Given the description of an element on the screen output the (x, y) to click on. 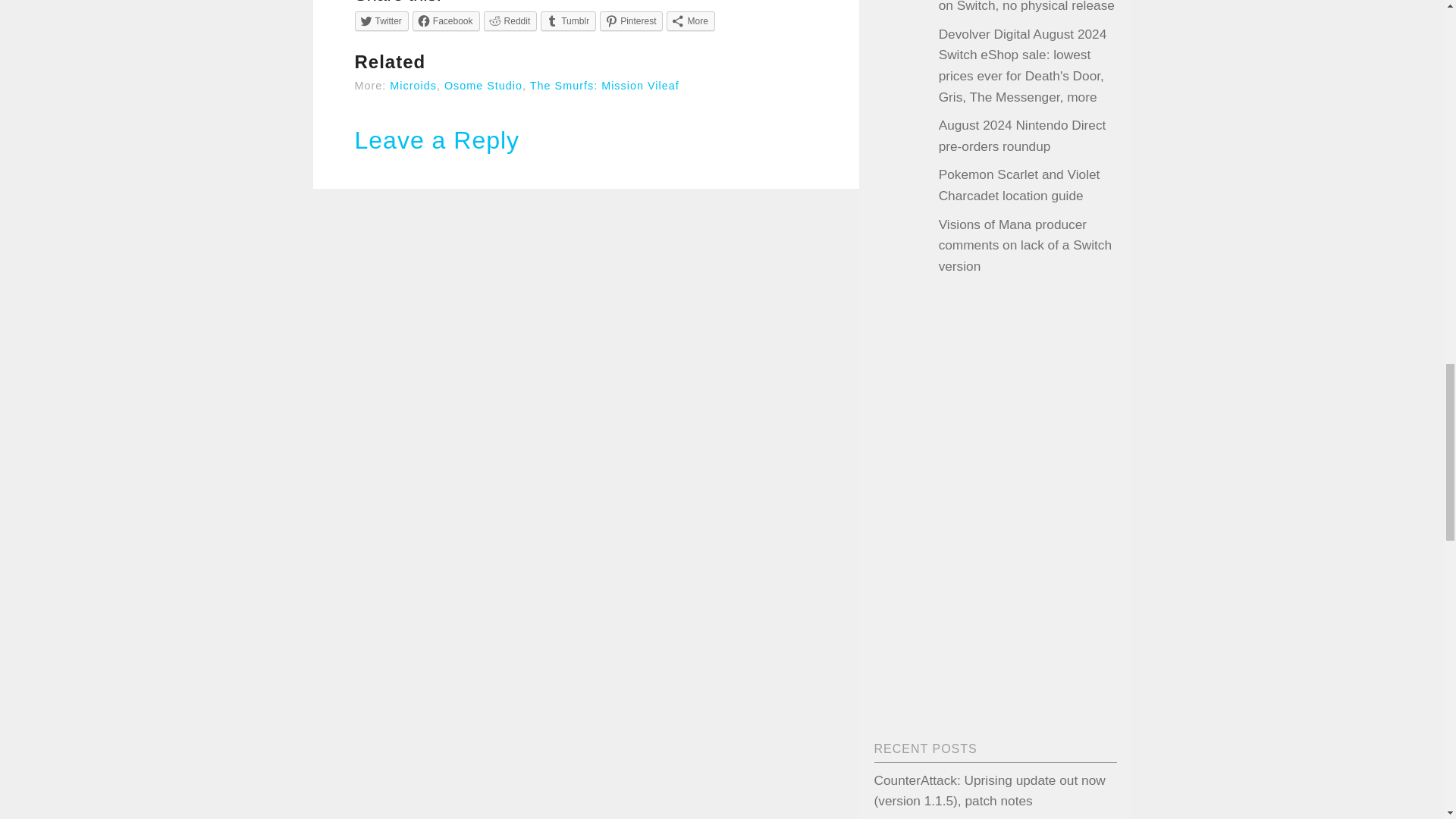
Twitter (382, 21)
Click to share on Twitter (382, 21)
Click to share on Pinterest (630, 21)
More (690, 21)
Click to share on Reddit (510, 21)
Click to share on Facebook (446, 21)
Click to share on Tumblr (567, 21)
Facebook (446, 21)
Pinterest (630, 21)
Tumblr (567, 21)
